Given the description of an element on the screen output the (x, y) to click on. 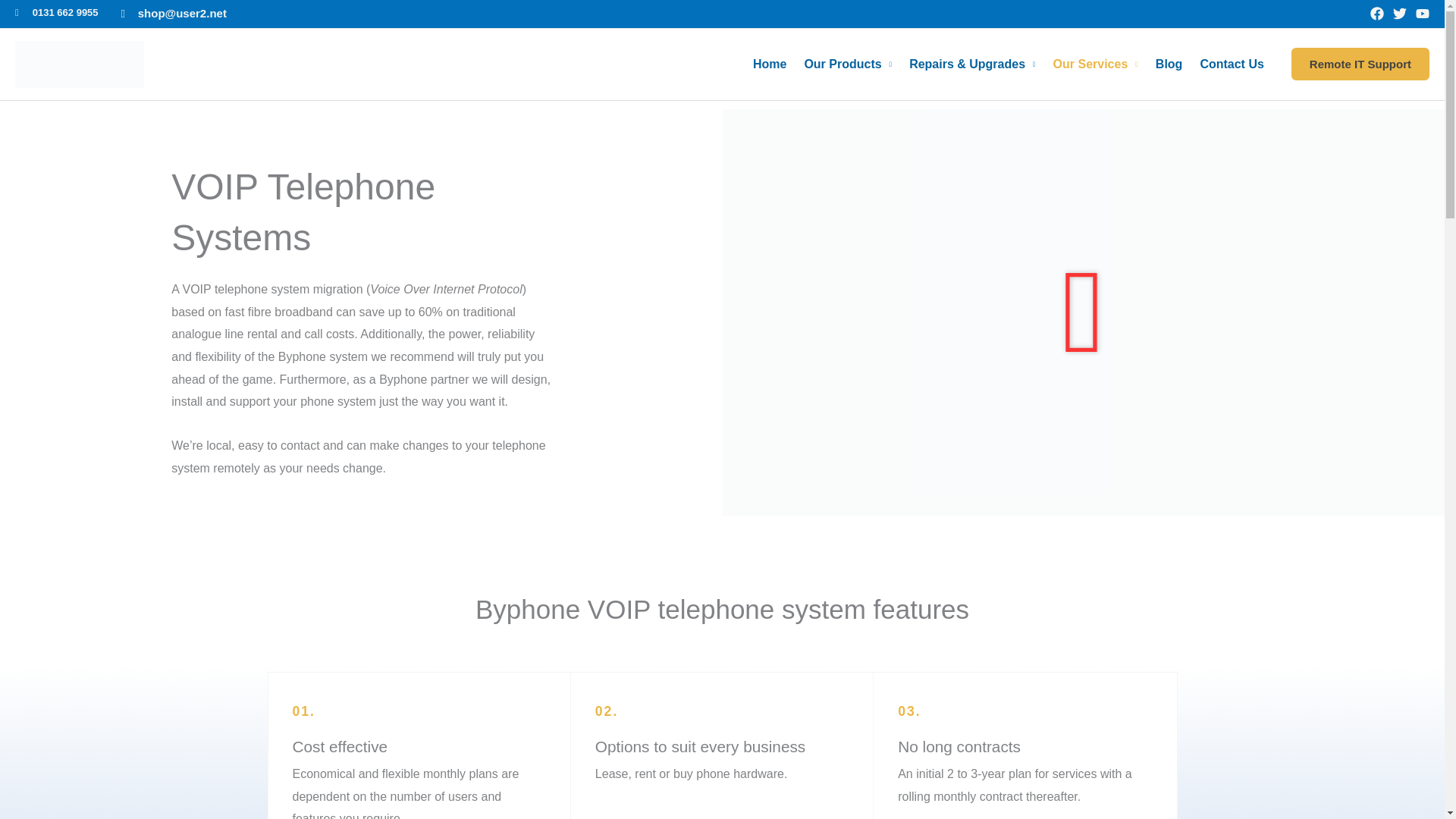
Our Products (850, 63)
Our Services (1099, 63)
Home (772, 63)
